Given the description of an element on the screen output the (x, y) to click on. 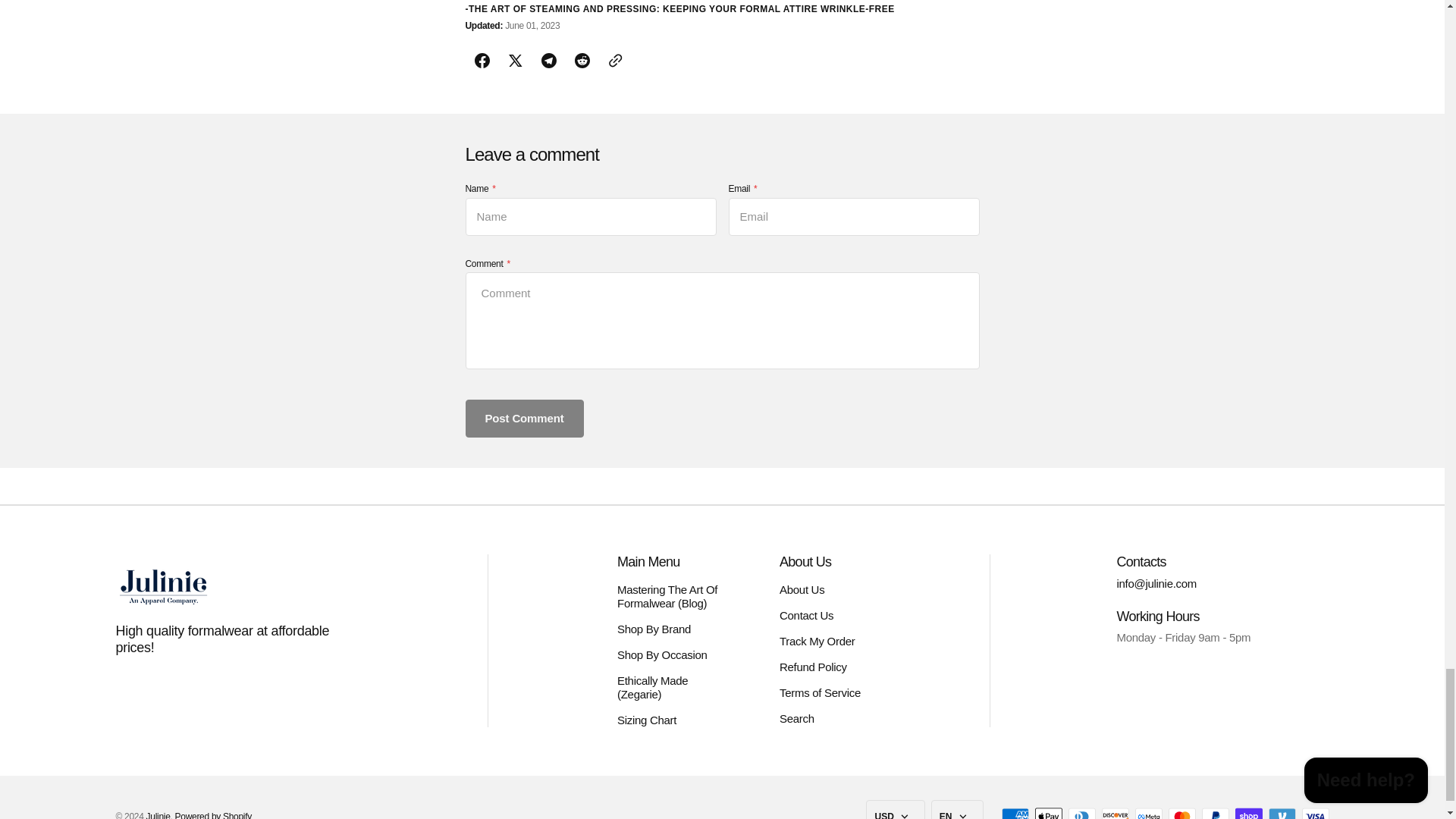
Post Comment (524, 418)
